Given the description of an element on the screen output the (x, y) to click on. 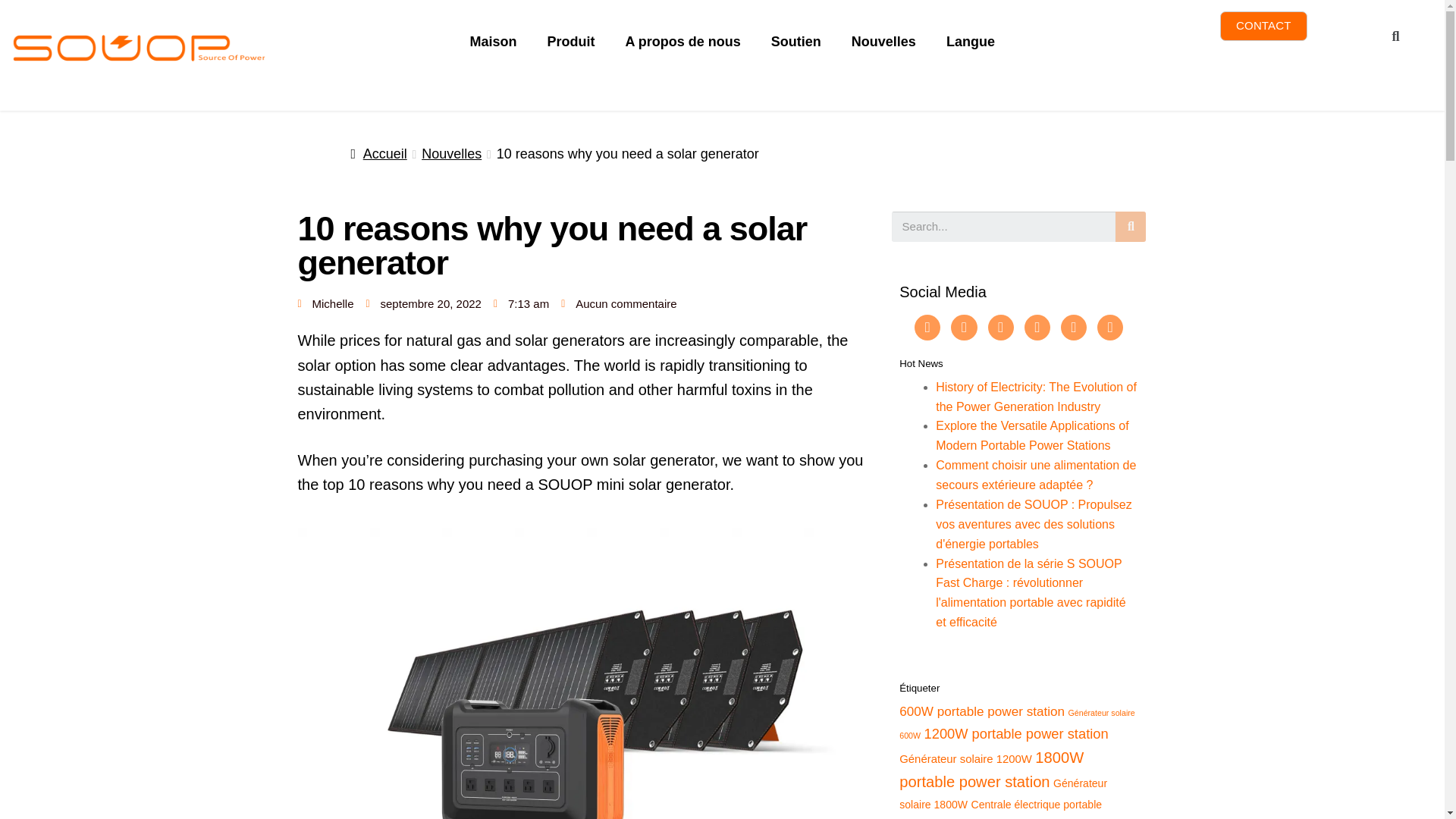
Produit (571, 41)
Nouvelles (883, 41)
A propos de nous (682, 41)
Maison (492, 41)
Langue (970, 41)
Soutien (795, 41)
